Given the description of an element on the screen output the (x, y) to click on. 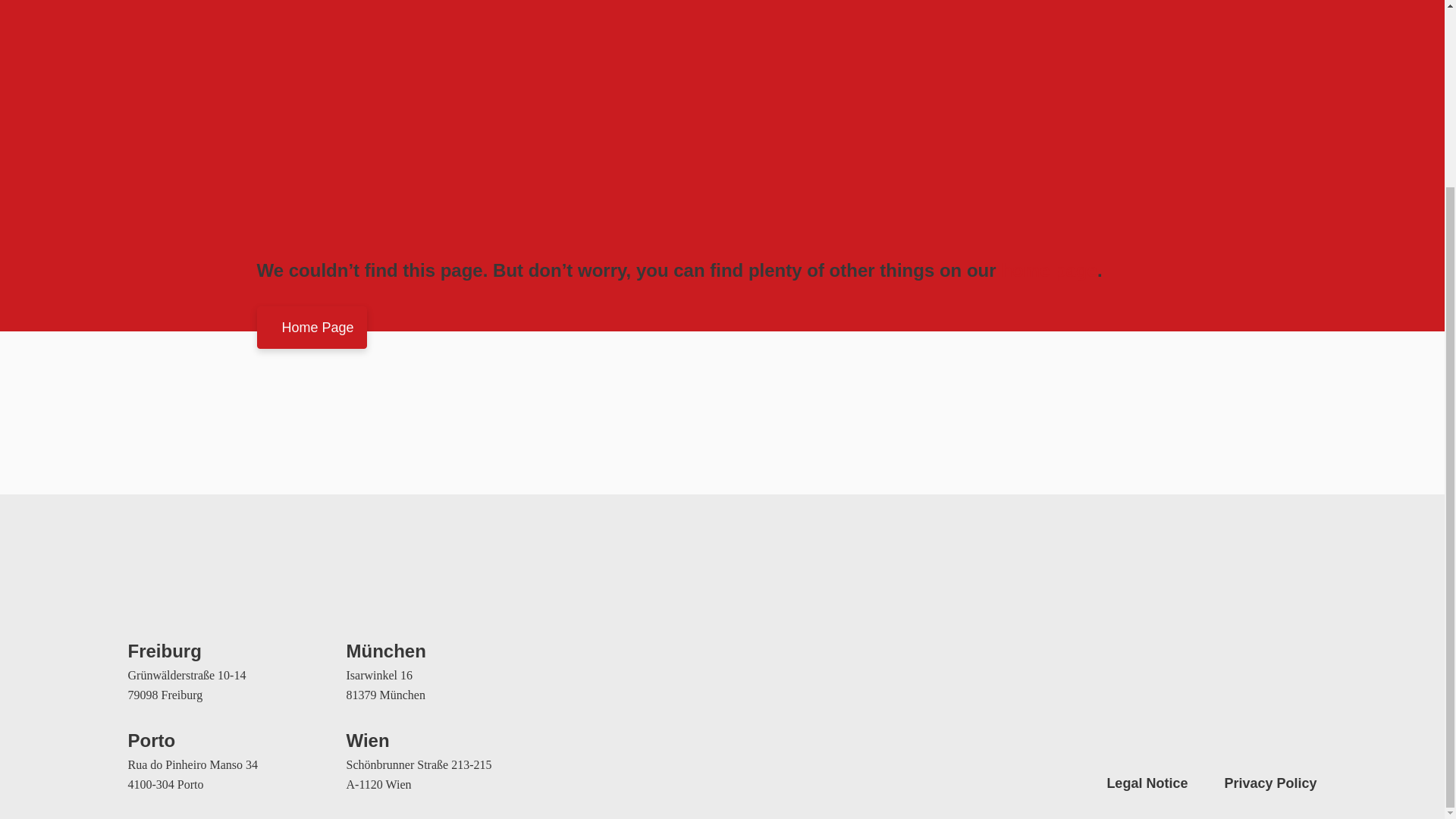
home page (1049, 270)
Privacy Policy (1270, 783)
Home Page (311, 327)
Legal Notice (1147, 783)
